Given the description of an element on the screen output the (x, y) to click on. 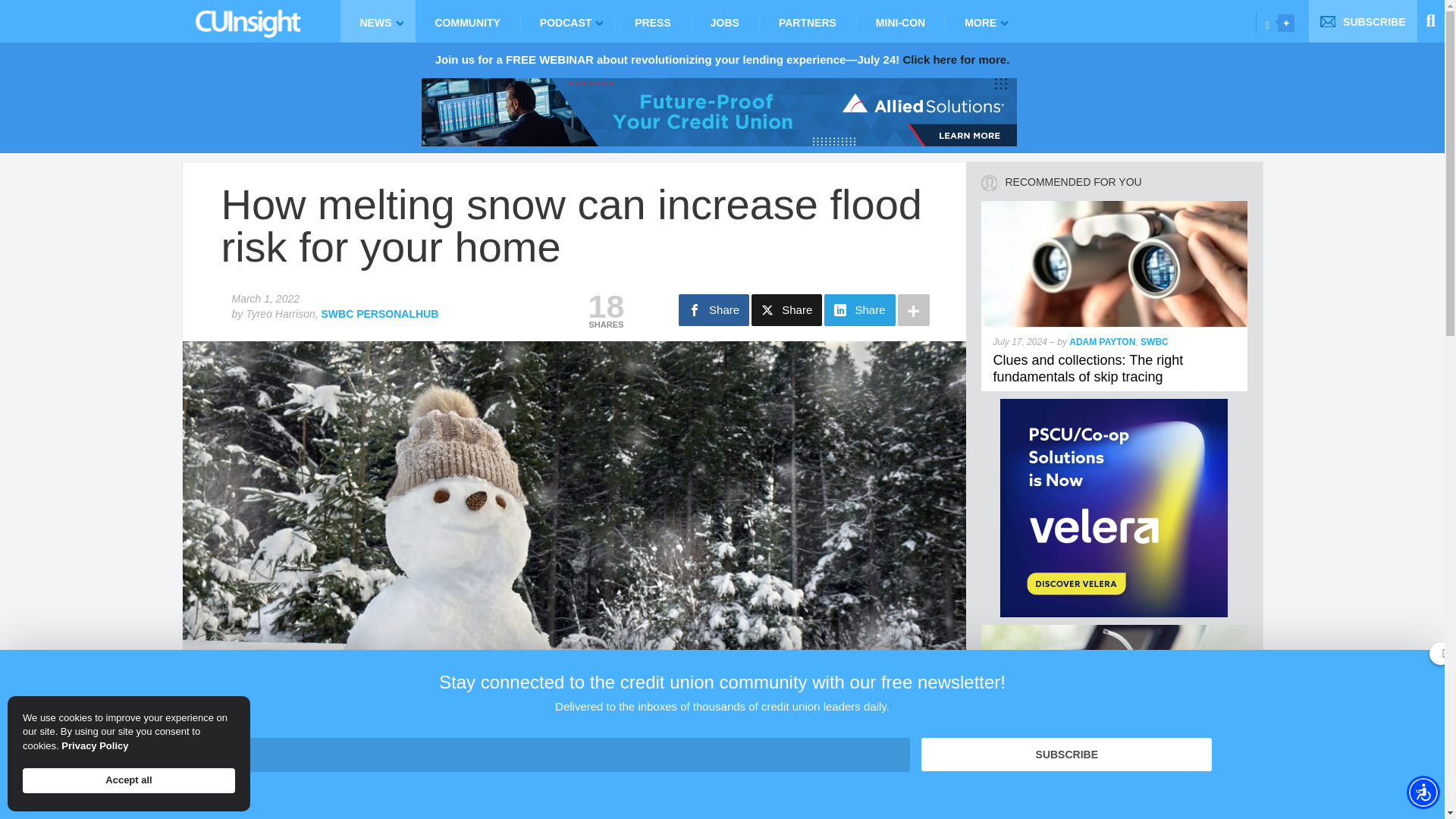
PRESS (652, 21)
Accessibility Menu (1422, 792)
SUBSCRIBE (1362, 21)
COMMUNITY (466, 21)
Subscribe (1066, 754)
PARTNERS (807, 21)
JOBS (724, 21)
The future of collections: 3 powerful views to think about! (1114, 631)
Opener (1286, 22)
MORE (982, 21)
PODCAST (566, 21)
Share (786, 309)
NEWS (376, 21)
SWBC PERSONALHUB (380, 313)
